Given the description of an element on the screen output the (x, y) to click on. 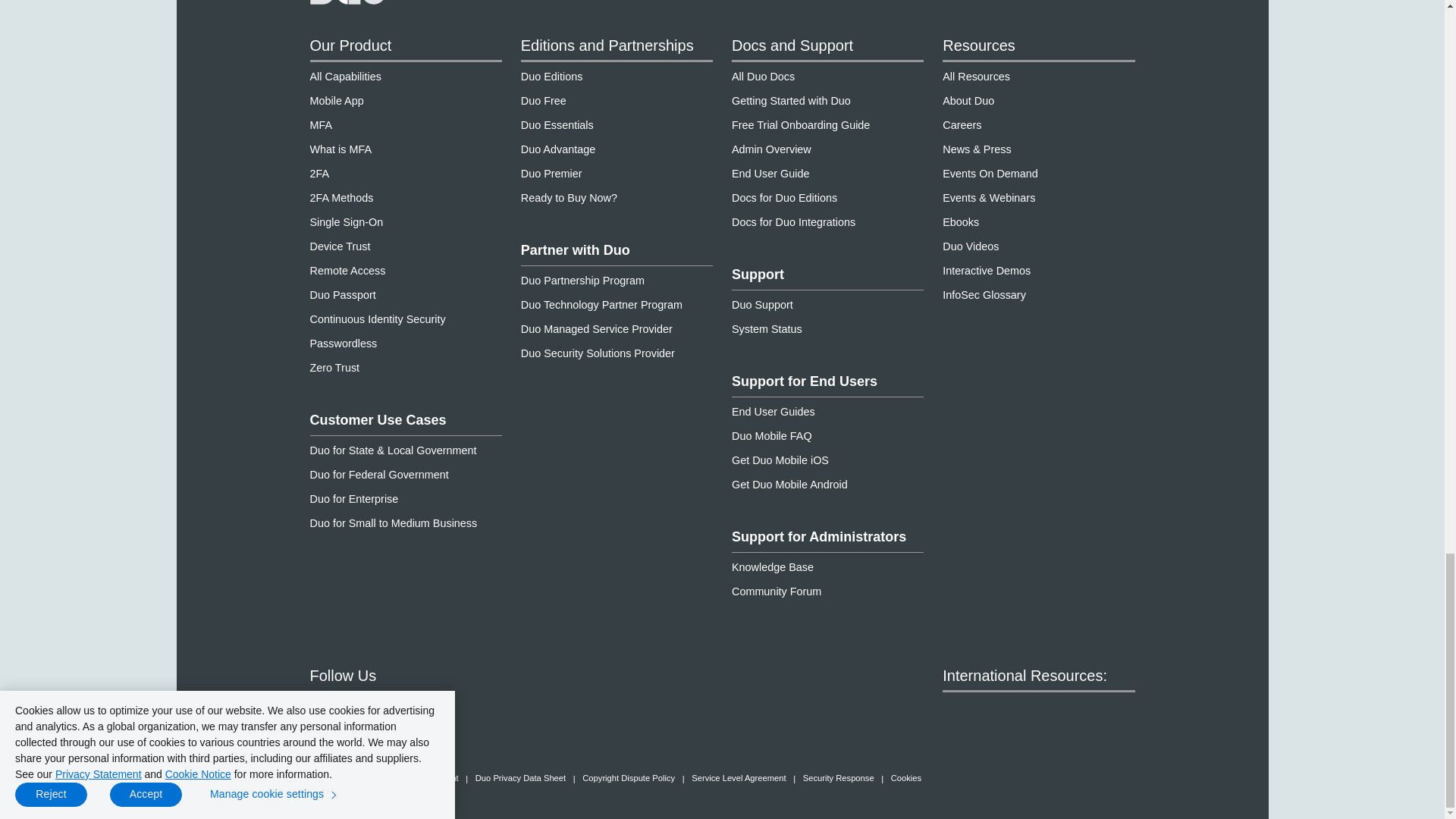
Duo Security on LinkedIn (491, 708)
Cisco Cookie Consent Manager (906, 778)
Duo Security on X (378, 708)
Duo Security on Facebook (319, 708)
Duo Security on Instagram (434, 708)
